Given the description of an element on the screen output the (x, y) to click on. 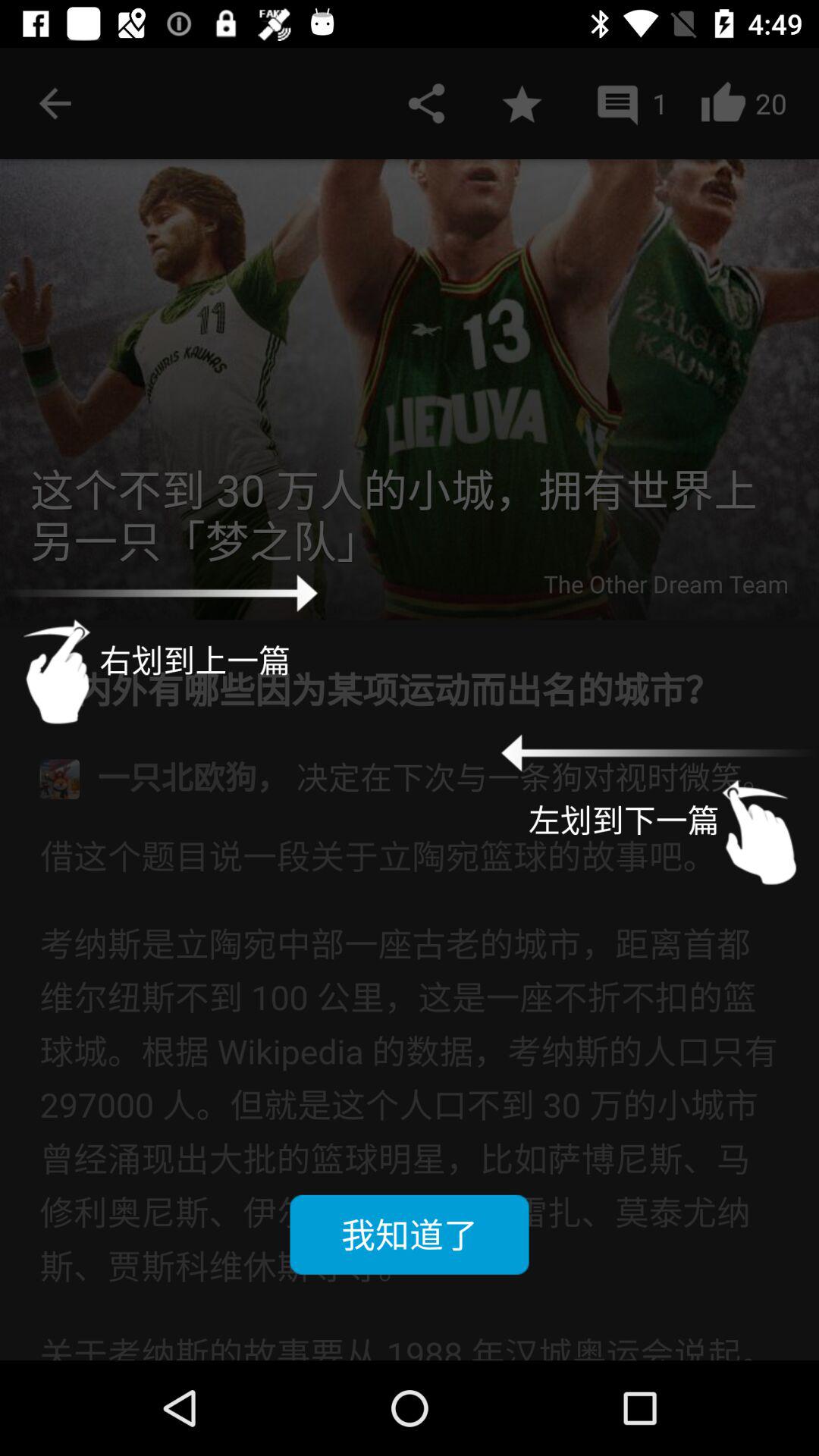
press icon at the top left corner (55, 103)
